Given the description of an element on the screen output the (x, y) to click on. 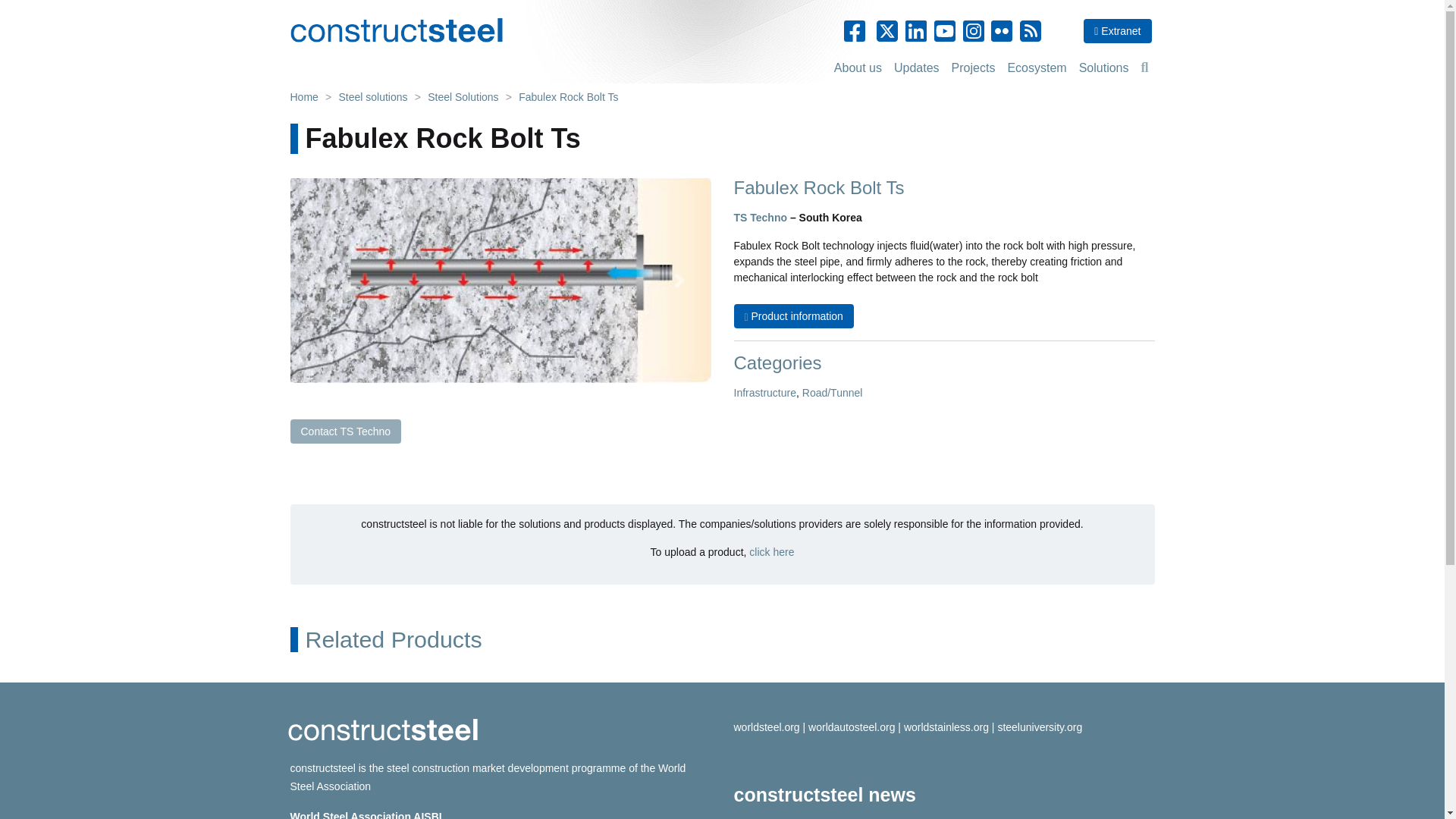
Projects (972, 68)
Solutions (1104, 68)
Ecosystem (1036, 68)
About us (858, 68)
Updates (916, 68)
Extranet (1117, 30)
